Given the description of an element on the screen output the (x, y) to click on. 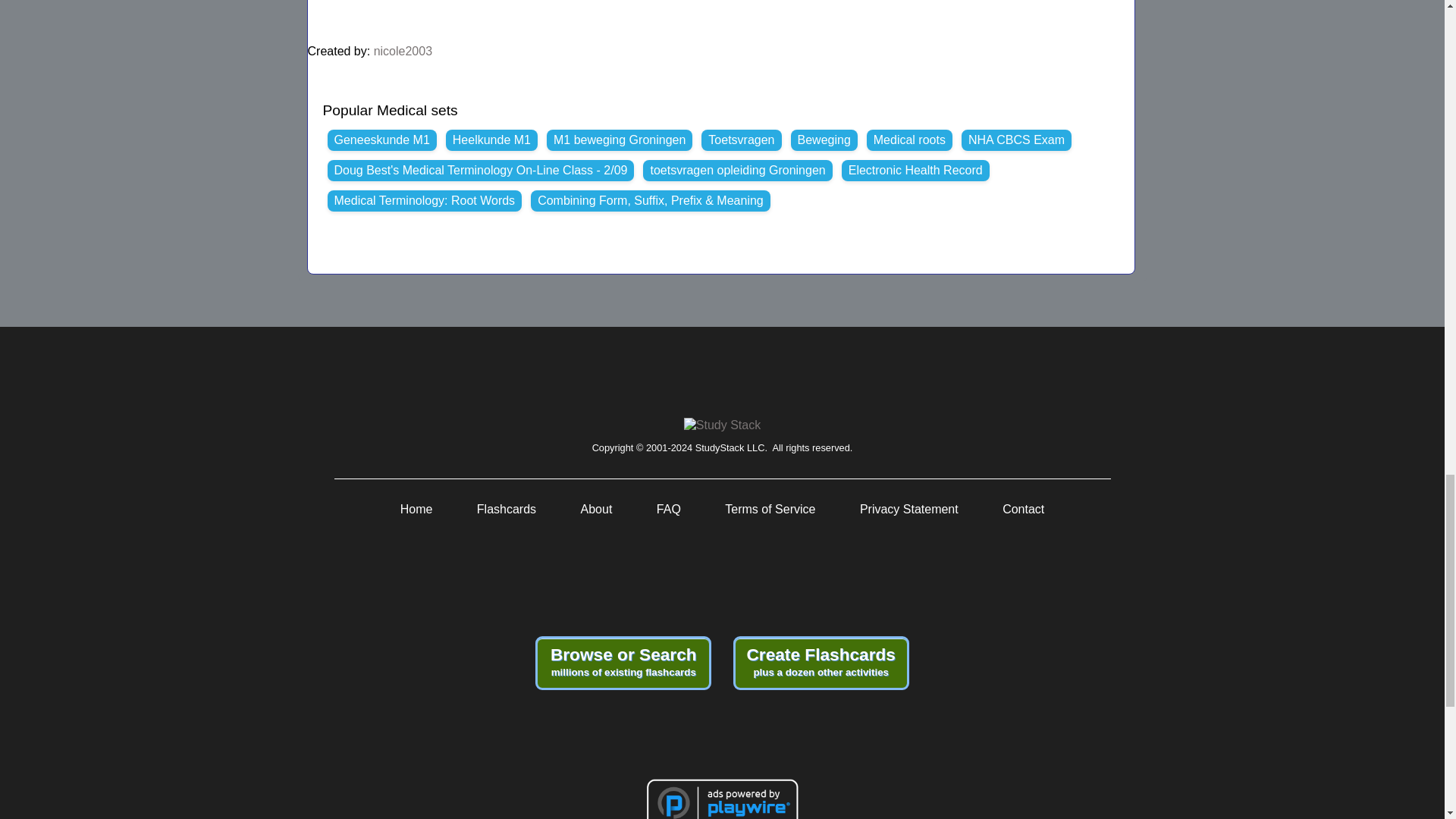
browse or search millions of existing flashcards (623, 663)
create flashcards plus a dozen other activities (820, 663)
